Given the description of an element on the screen output the (x, y) to click on. 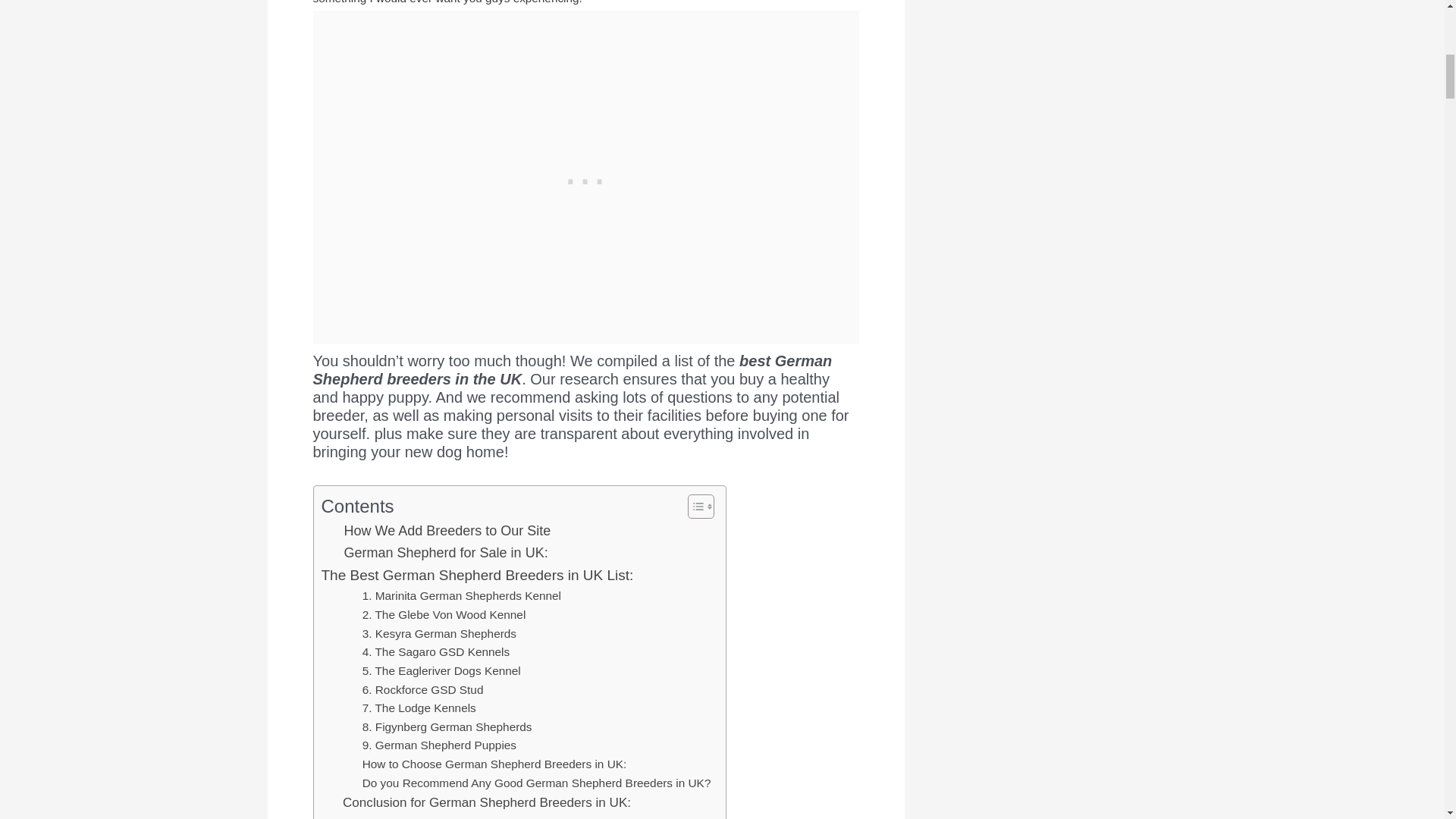
1. Marinita German Shepherds Kennel (461, 596)
How We Add Breeders to Our Site (447, 531)
4. The Sagaro GSD Kennels (436, 651)
The Best German Shepherd Breeders in UK List: (477, 575)
7. The Lodge Kennels (419, 708)
3. Kesyra German Shepherds (439, 633)
5. The Eagleriver Dogs Kennel (441, 670)
German Shepherd for Sale in UK: (445, 553)
6. Rockforce GSD Stud (422, 690)
1. Marinita German Shepherds Kennel (461, 596)
German Shepherd for Sale in UK: (445, 553)
Do you Recommend Any Good German Shepherd Breeders in UK? (536, 783)
6. Rockforce GSD Stud (422, 690)
9. German Shepherd Puppies (439, 745)
8. Figynberg German Shepherds (447, 727)
